Given the description of an element on the screen output the (x, y) to click on. 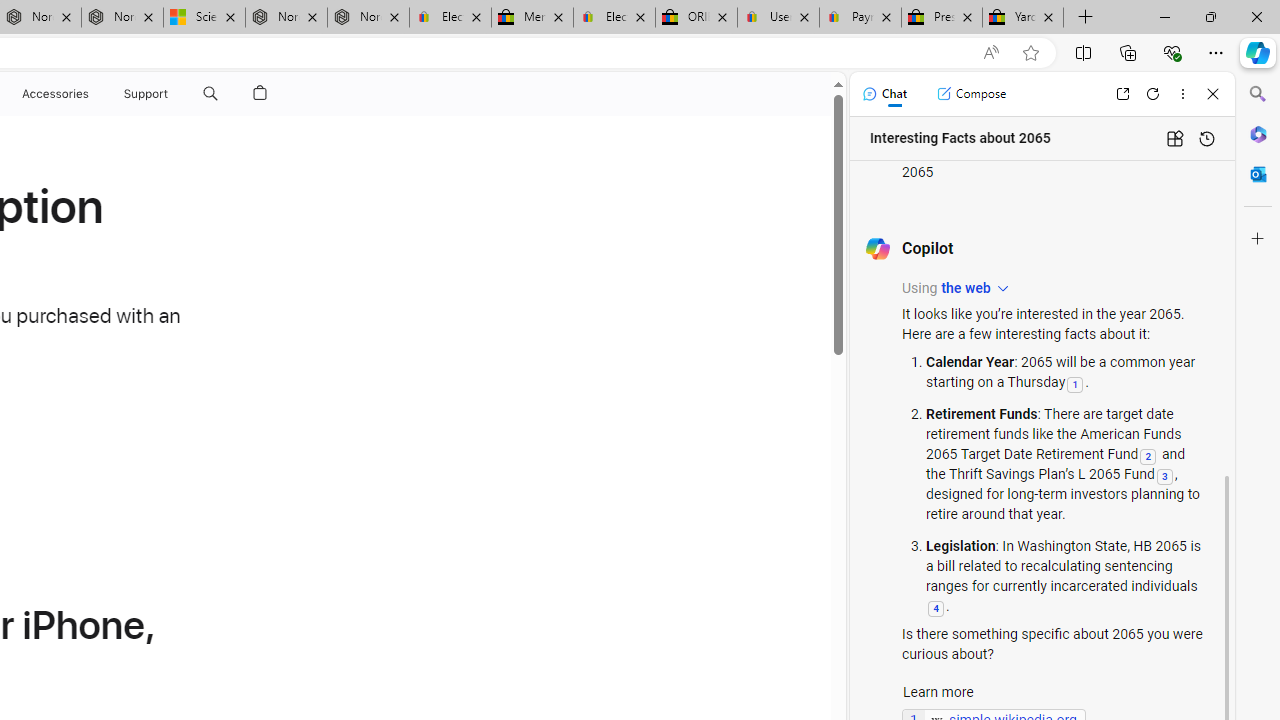
Shopping Bag (260, 93)
Support (146, 93)
Accessories menu (91, 93)
Accessories (54, 93)
